Given the description of an element on the screen output the (x, y) to click on. 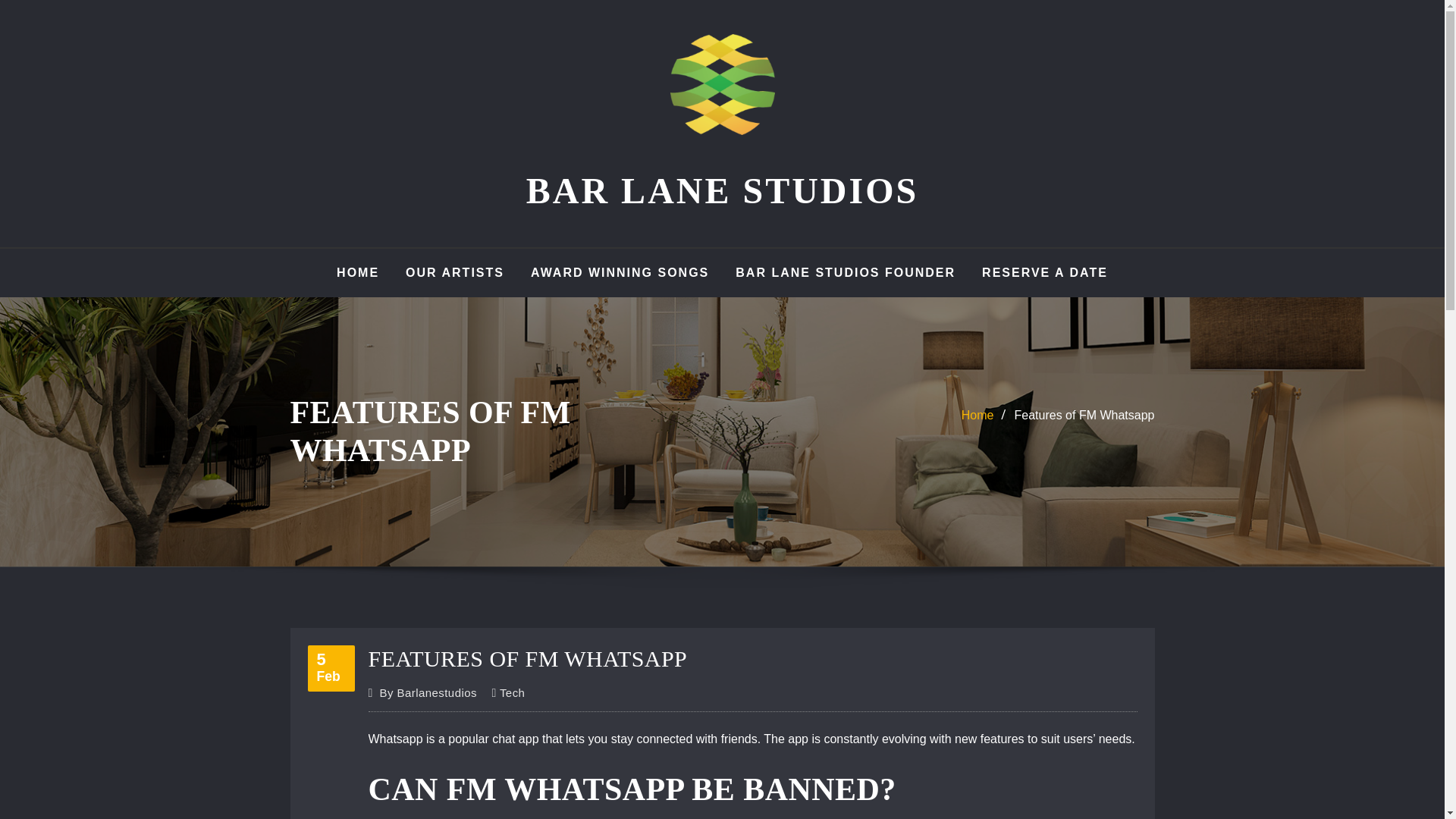
Tech (512, 692)
HOME (330, 668)
RESERVE A DATE (357, 272)
Features of FM Whatsapp (1044, 272)
OUR ARTISTS (1084, 414)
Home (454, 272)
By Barlanestudios (977, 414)
BAR LANE STUDIOS (427, 692)
BAR LANE STUDIOS FOUNDER (721, 190)
AWARD WINNING SONGS (845, 272)
